Given the description of an element on the screen output the (x, y) to click on. 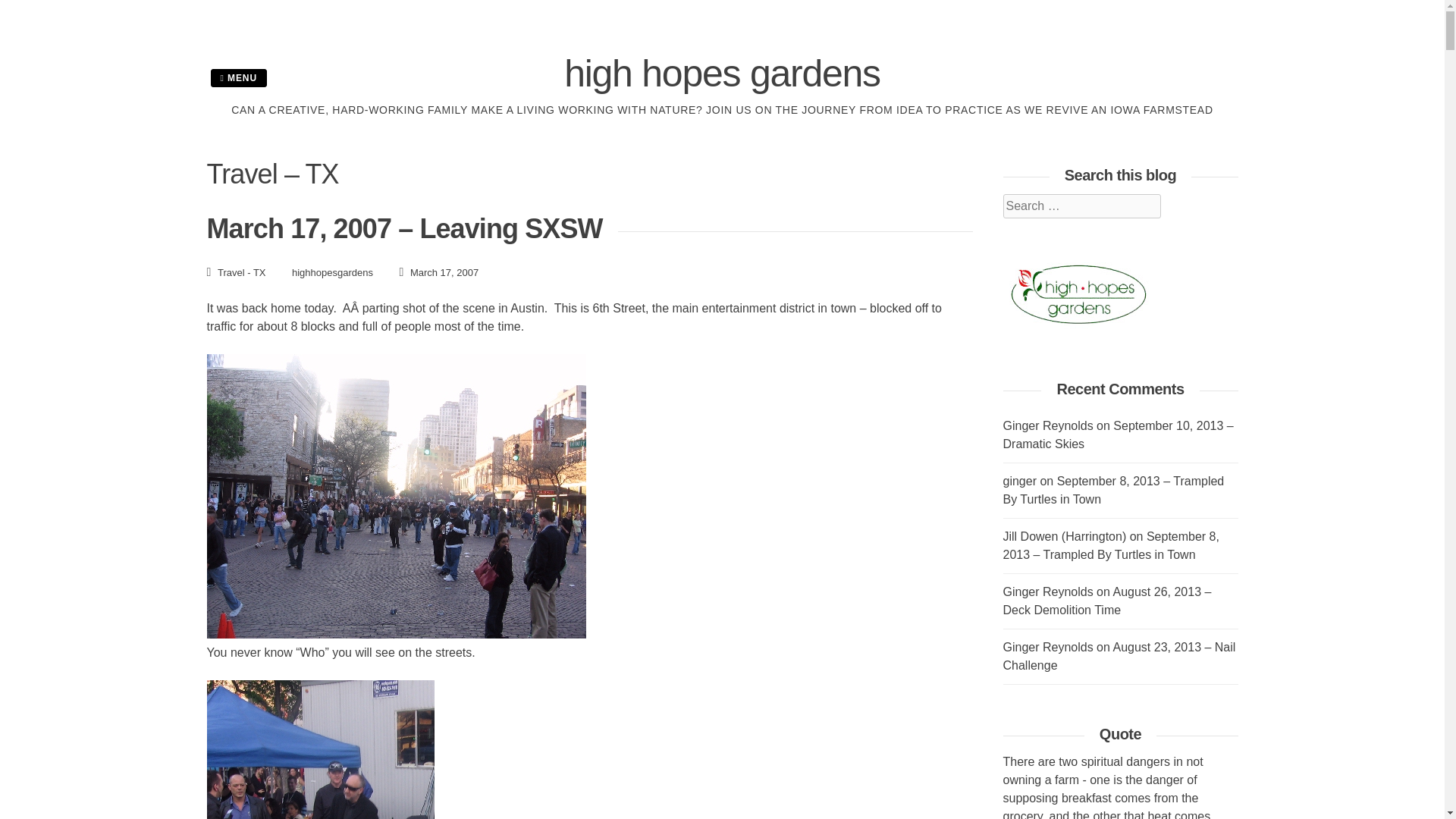
high hopes gardens (722, 73)
MENU (238, 77)
Travel - TX (241, 272)
